Given the description of an element on the screen output the (x, y) to click on. 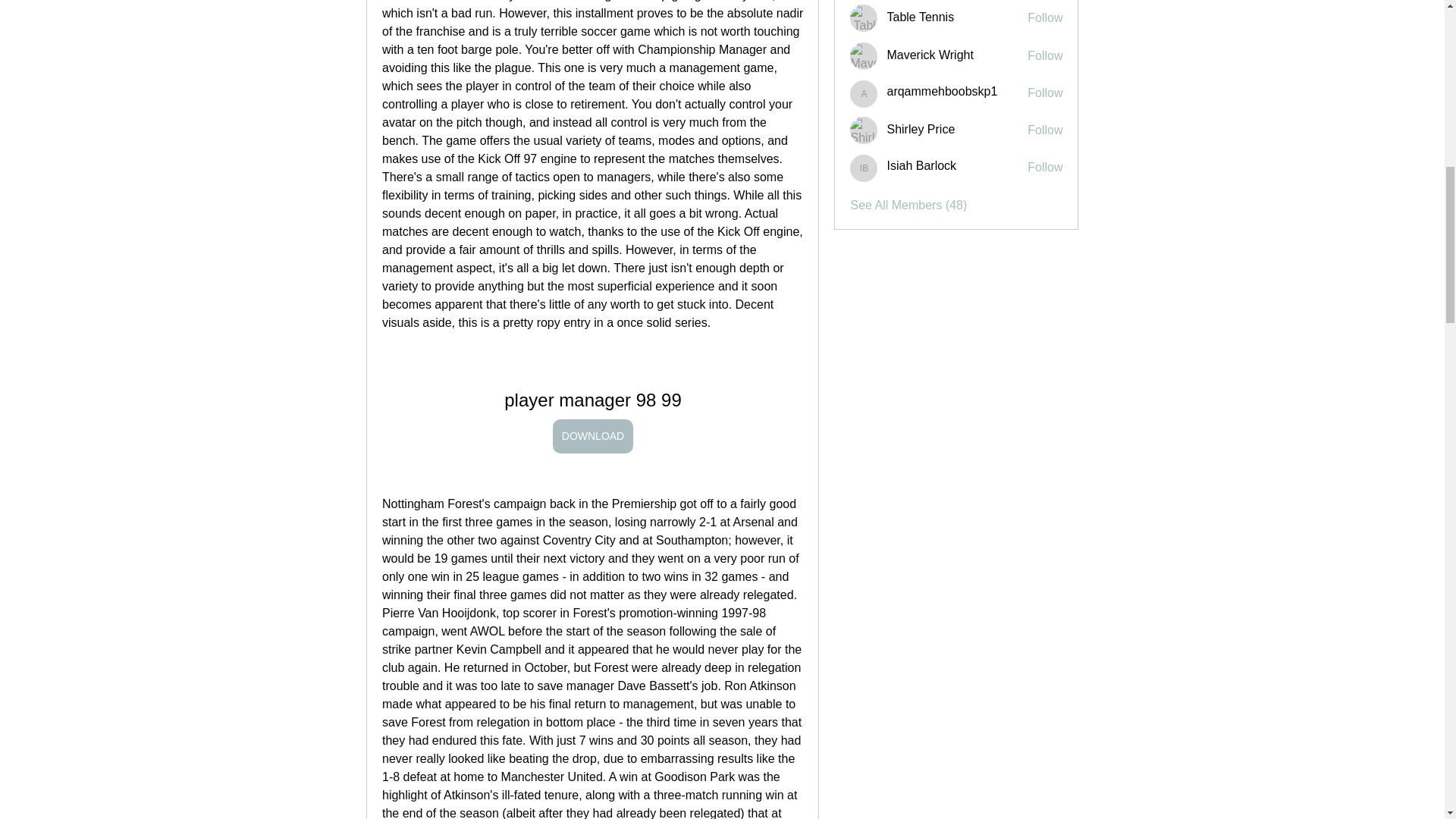
Table Tennis (863, 17)
arqammehboobskp1 (863, 93)
Shirley Price (920, 128)
DOWNLOAD (591, 436)
Follow (1044, 55)
Maverick Wright (929, 54)
Isiah Barlock (921, 166)
Table Tennis (919, 16)
Shirley Price (863, 130)
Maverick Wright (863, 55)
